Given the description of an element on the screen output the (x, y) to click on. 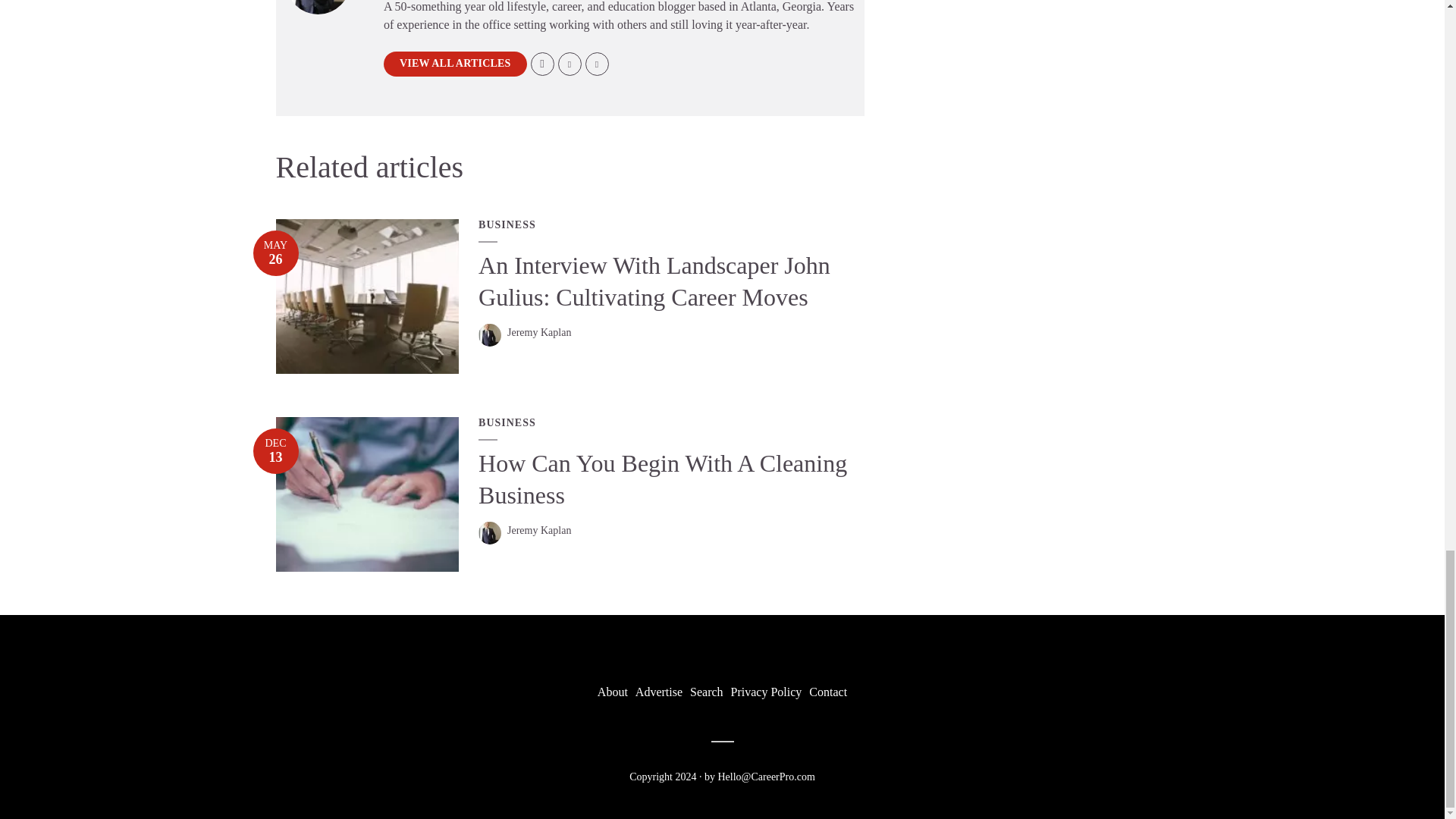
How Can You Begin With A Cleaning Business 3 (368, 493)
VIEW ALL ARTICLES (455, 63)
